Given the description of an element on the screen output the (x, y) to click on. 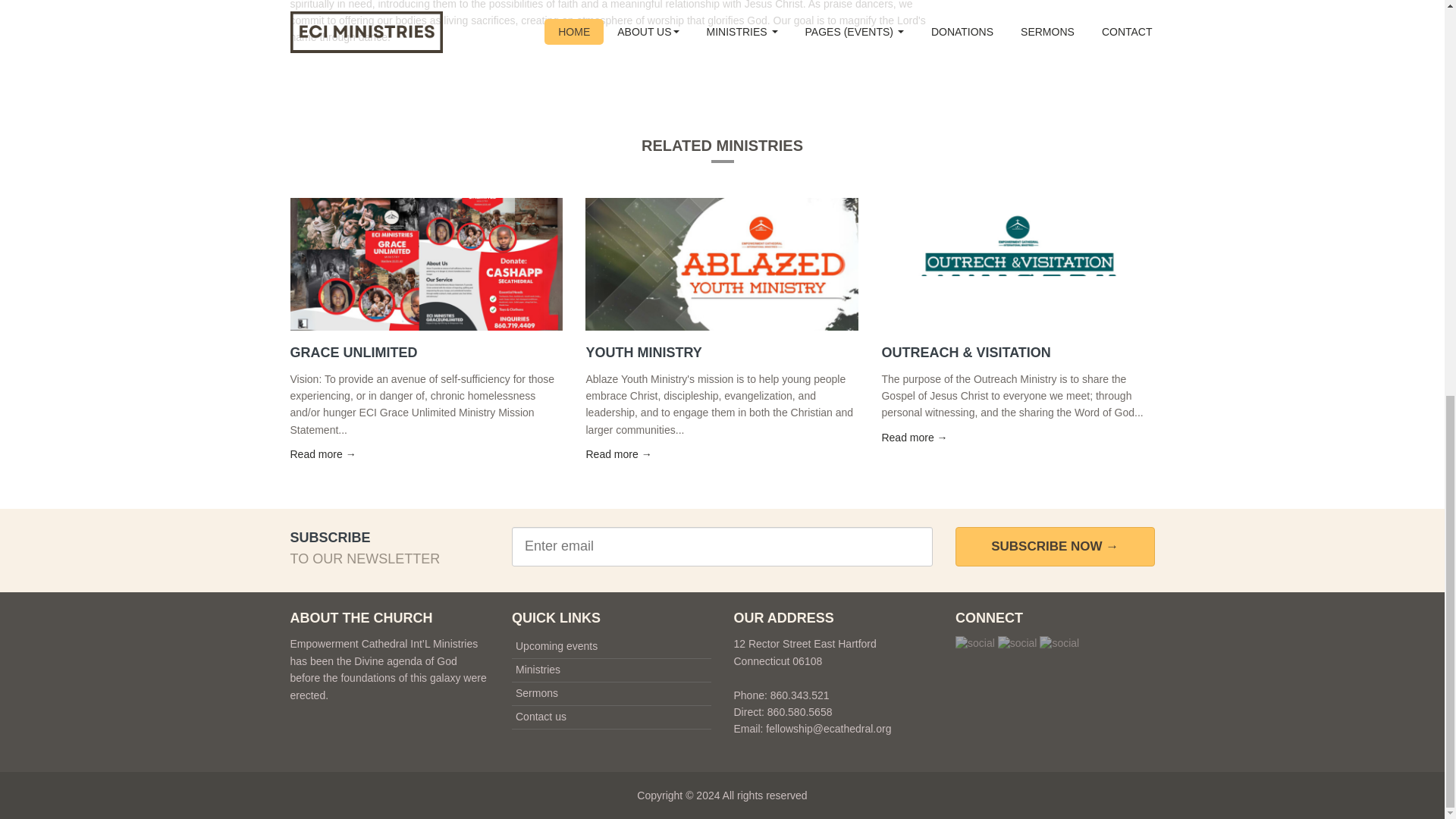
Ministries (537, 669)
Sermons (536, 693)
Contact us (540, 716)
Upcoming events (555, 645)
